Given the description of an element on the screen output the (x, y) to click on. 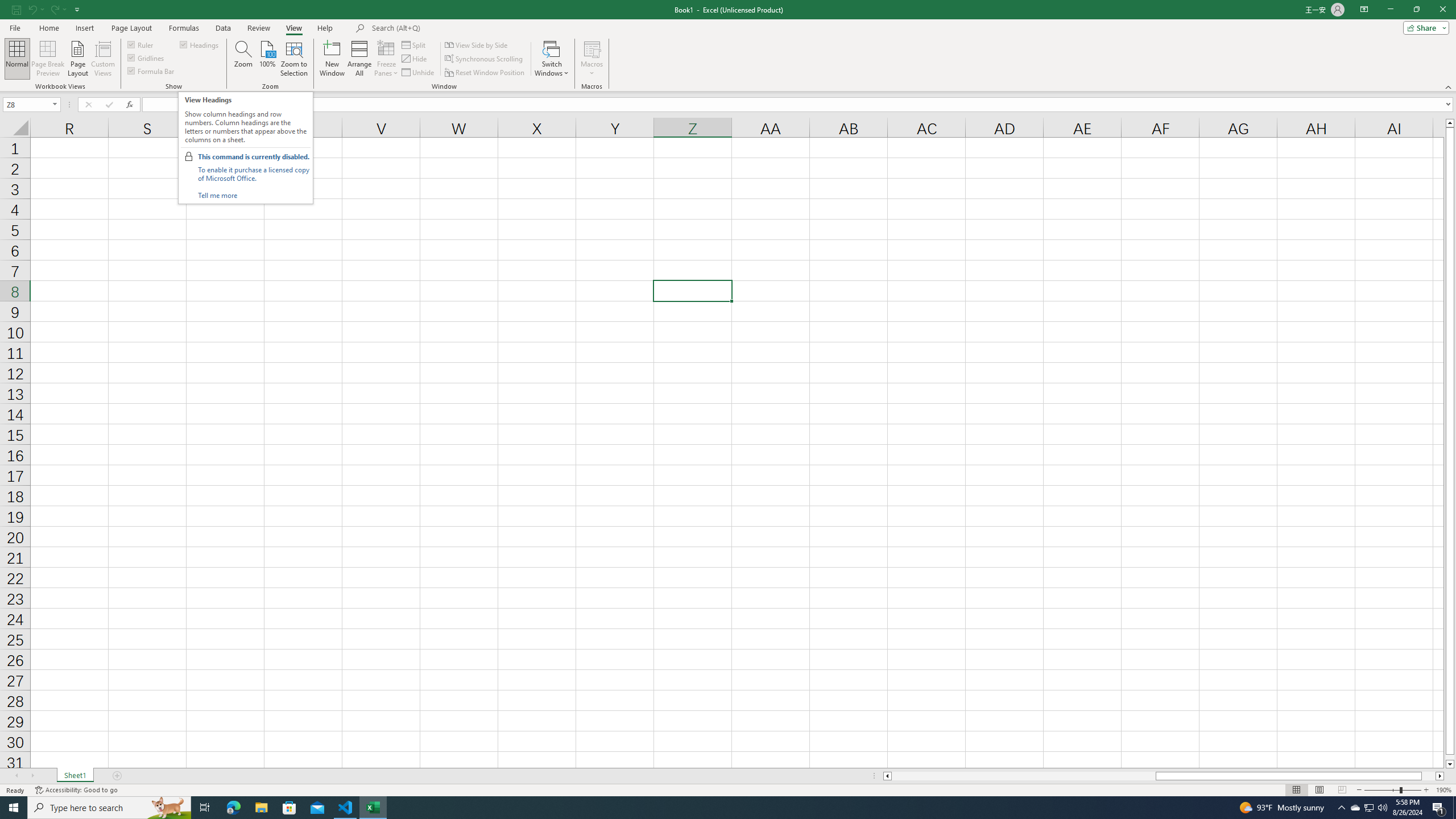
100% (266, 58)
Synchronous Scrolling (484, 58)
Headings (199, 44)
